Given the description of an element on the screen output the (x, y) to click on. 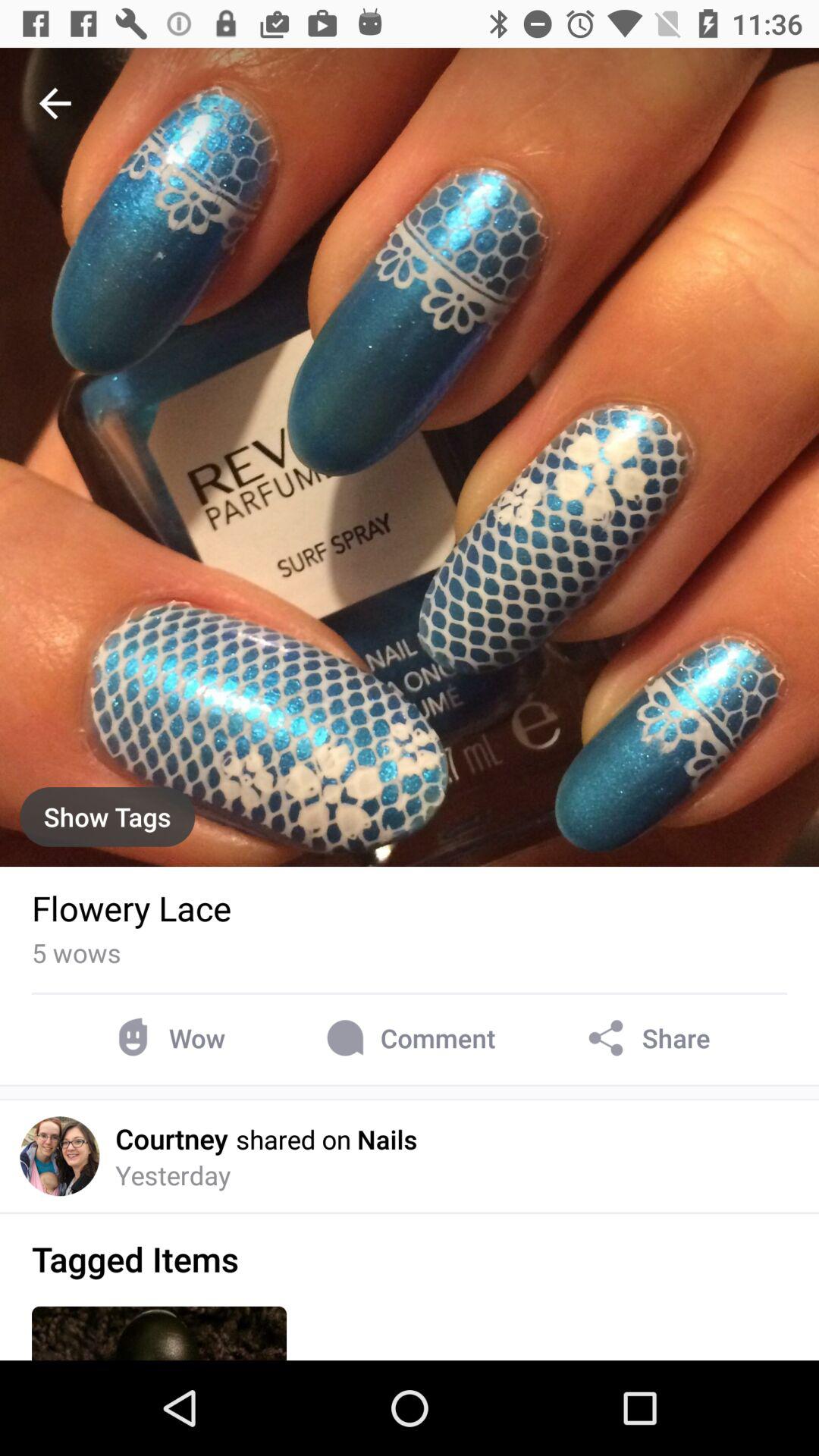
click the item to the left of the comment icon (166, 1038)
